Given the description of an element on the screen output the (x, y) to click on. 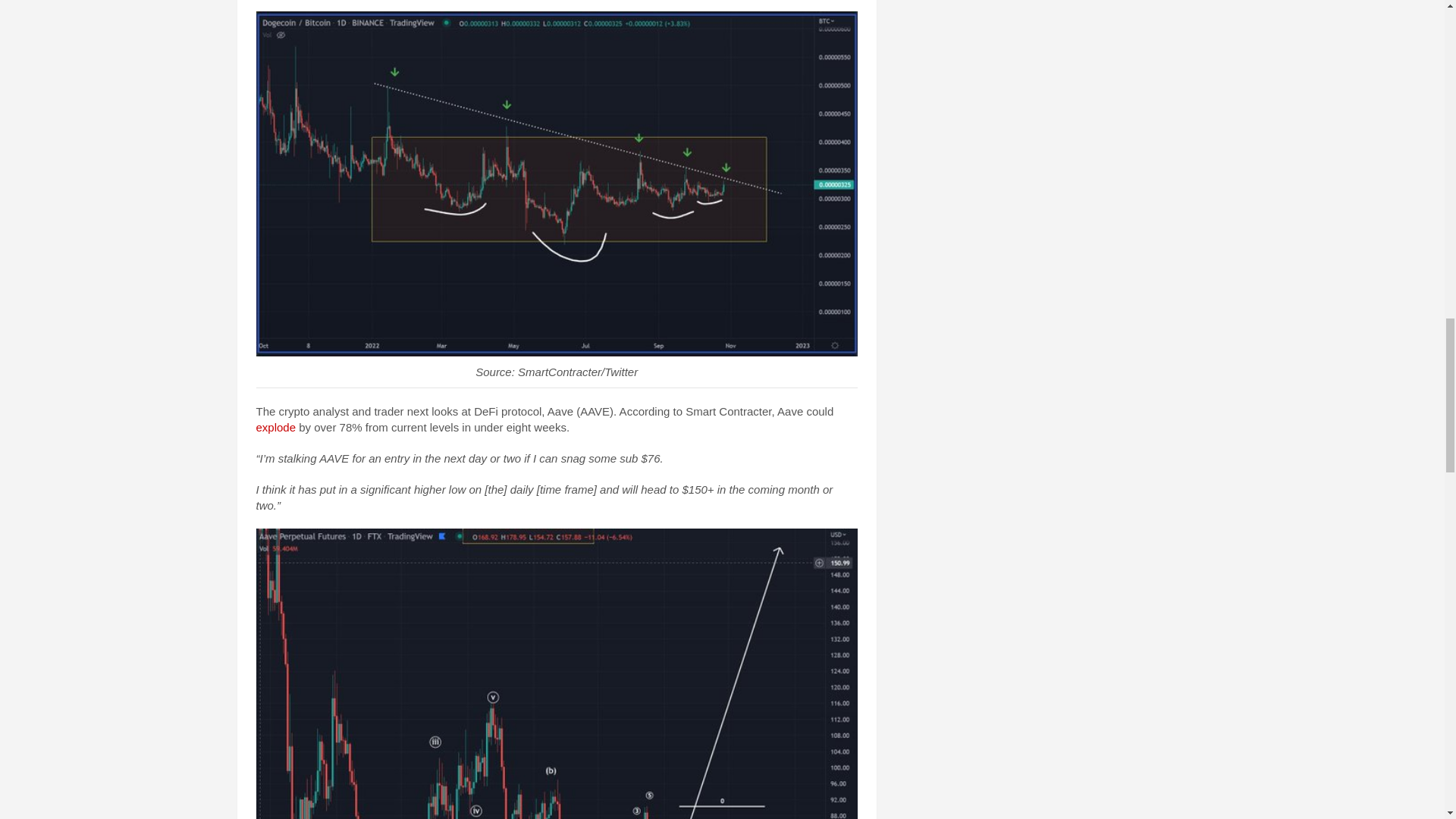
explode (276, 427)
